Given the description of an element on the screen output the (x, y) to click on. 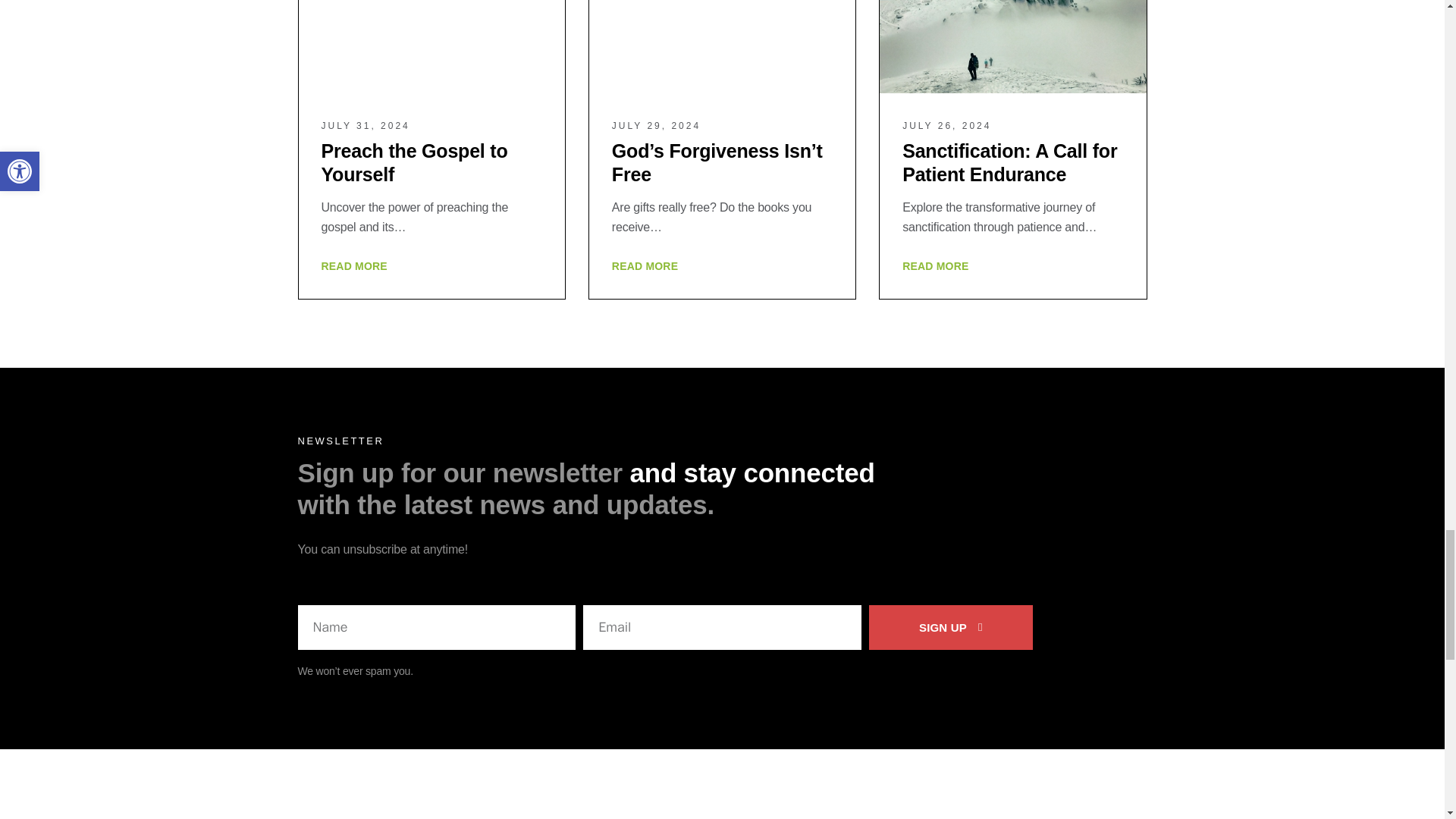
READ MORE (644, 266)
READ MORE (354, 266)
READ MORE (935, 266)
SIGN UP (950, 627)
